Given the description of an element on the screen output the (x, y) to click on. 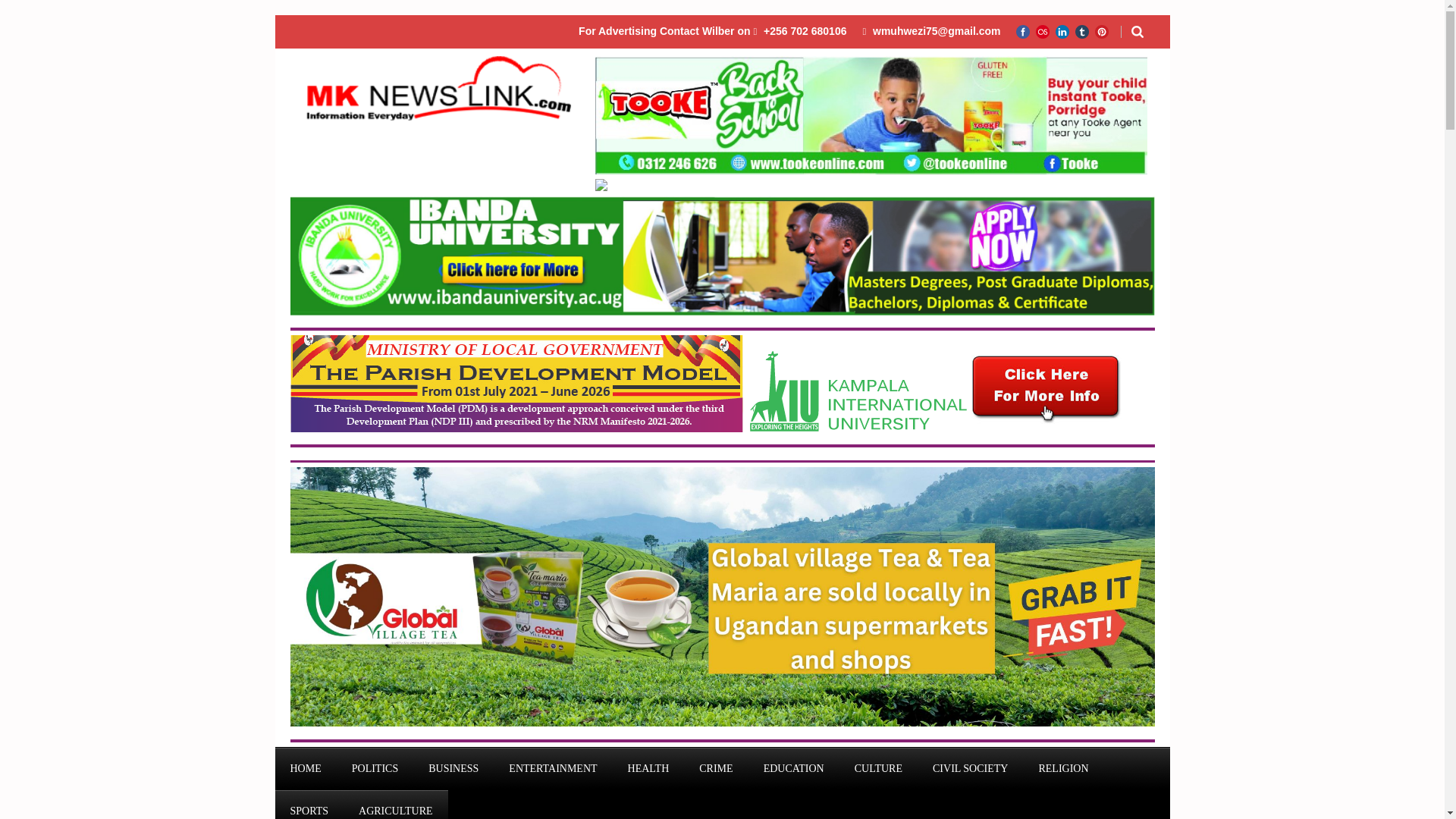
HOME (305, 768)
CULTURE (878, 768)
AGRICULTURE (395, 804)
SPORTS (309, 804)
CIVIL SOCIETY (970, 768)
BUSINESS (453, 768)
HEALTH (648, 768)
EDUCATION (794, 768)
RELIGION (1063, 768)
ENTERTAINMENT (552, 768)
